Given the description of an element on the screen output the (x, y) to click on. 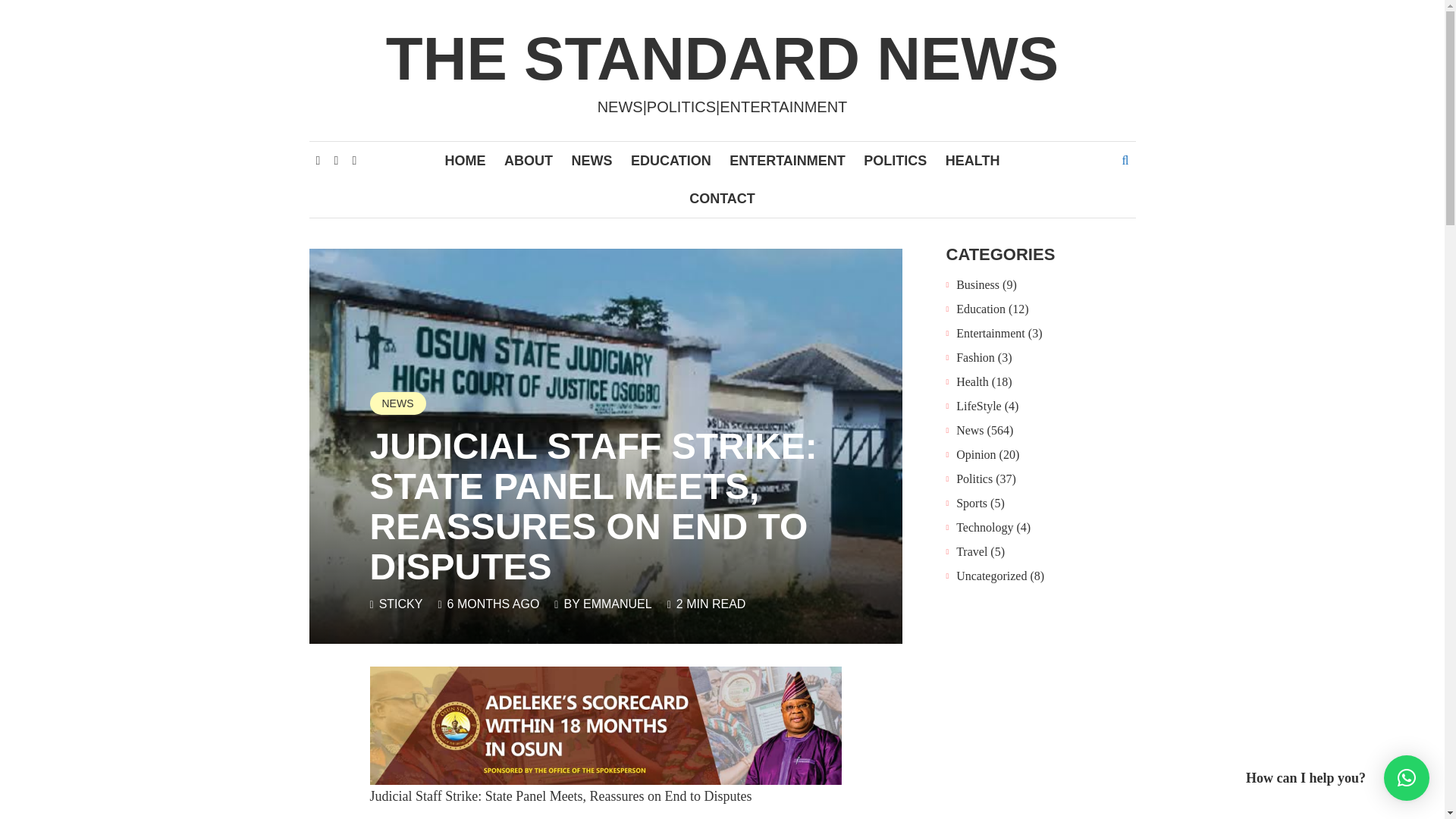
Business (977, 283)
Fashion (975, 356)
POLITICS (895, 160)
Uncategorized (991, 574)
EDUCATION (671, 160)
NEWS (397, 403)
Politics (974, 477)
Travel (971, 550)
Opinion (975, 453)
News (970, 429)
HEALTH (972, 160)
CONTACT (721, 198)
Technology (984, 526)
Entertainment (990, 332)
ABOUT (528, 160)
